Given the description of an element on the screen output the (x, y) to click on. 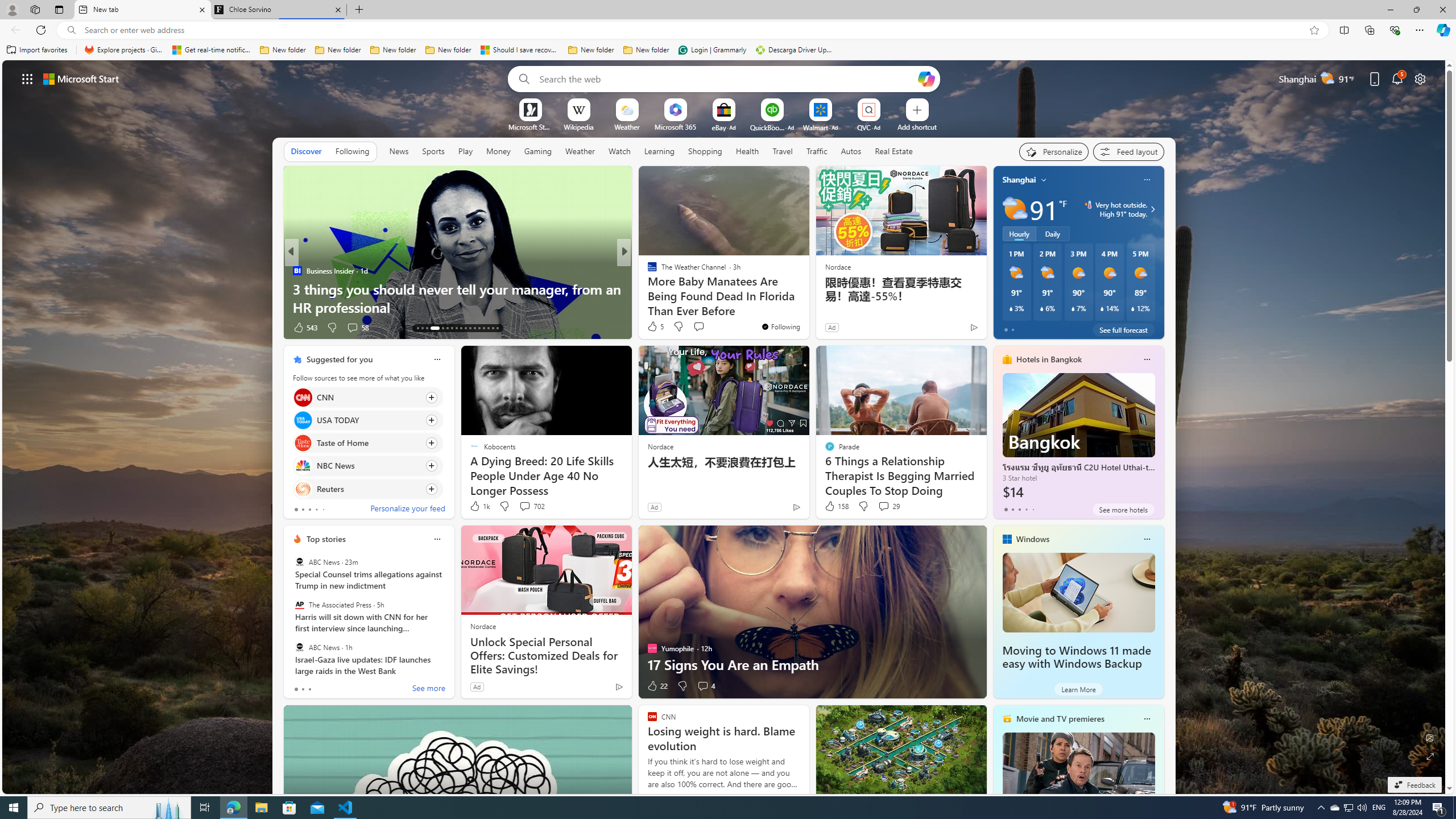
158 Like (835, 505)
1k Like (478, 505)
Click to follow source USA TODAY (367, 419)
tab-1 (302, 689)
View comments 6 Comment (705, 327)
CNN (302, 397)
Learning (659, 151)
Autos (851, 151)
Wikipedia (578, 126)
